Given the description of an element on the screen output the (x, y) to click on. 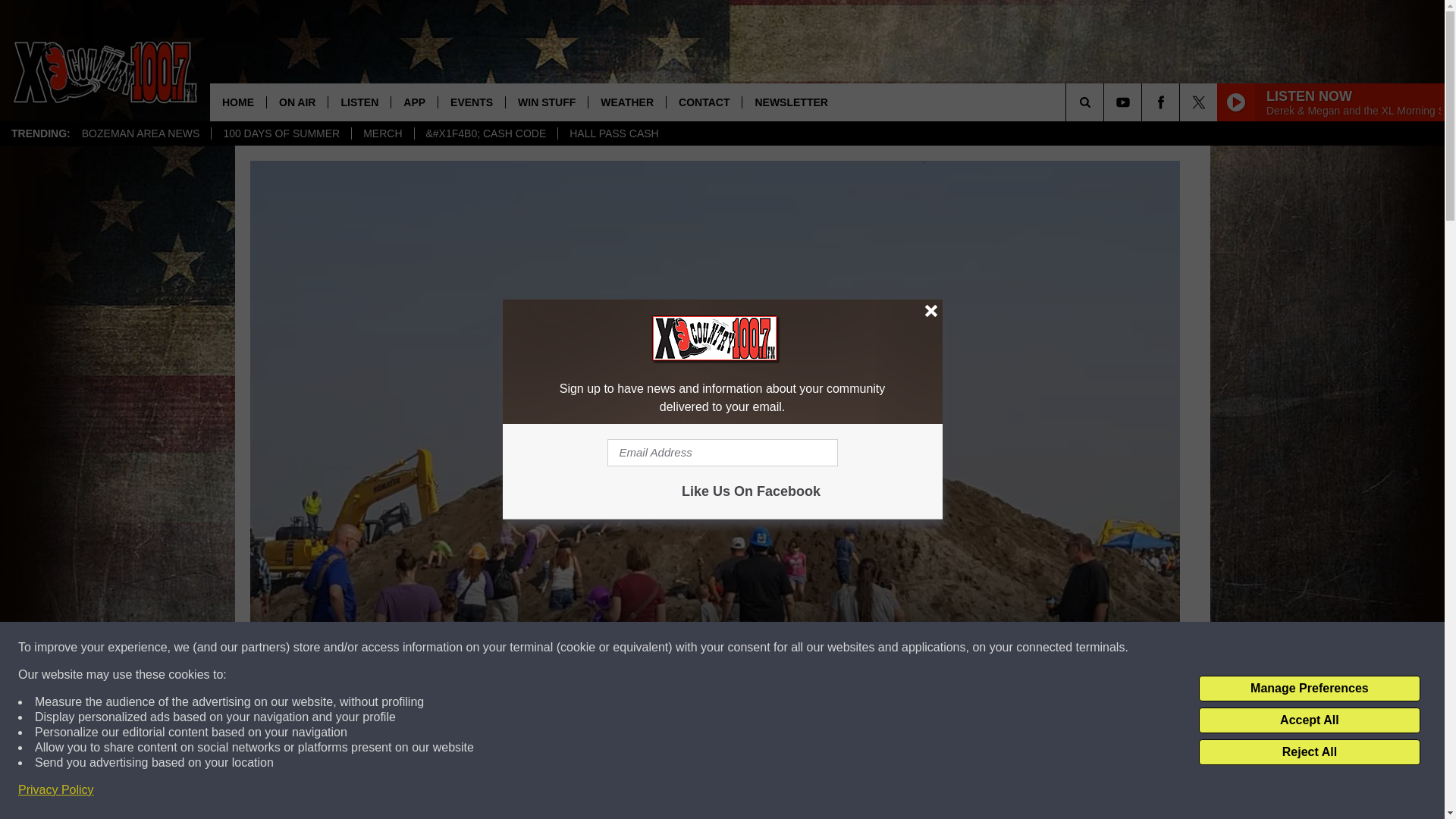
LISTEN (358, 102)
HALL PASS CASH (613, 133)
HOME (237, 102)
ON AIR (296, 102)
Accept All (1309, 720)
MERCH (381, 133)
Share on Twitter (912, 791)
Share on Facebook (517, 791)
APP (414, 102)
Reject All (1309, 751)
SEARCH (1106, 102)
WEATHER (626, 102)
BOZEMAN AREA NEWS (140, 133)
100 DAYS OF SUMMER (280, 133)
Email Address (722, 452)
